Given the description of an element on the screen output the (x, y) to click on. 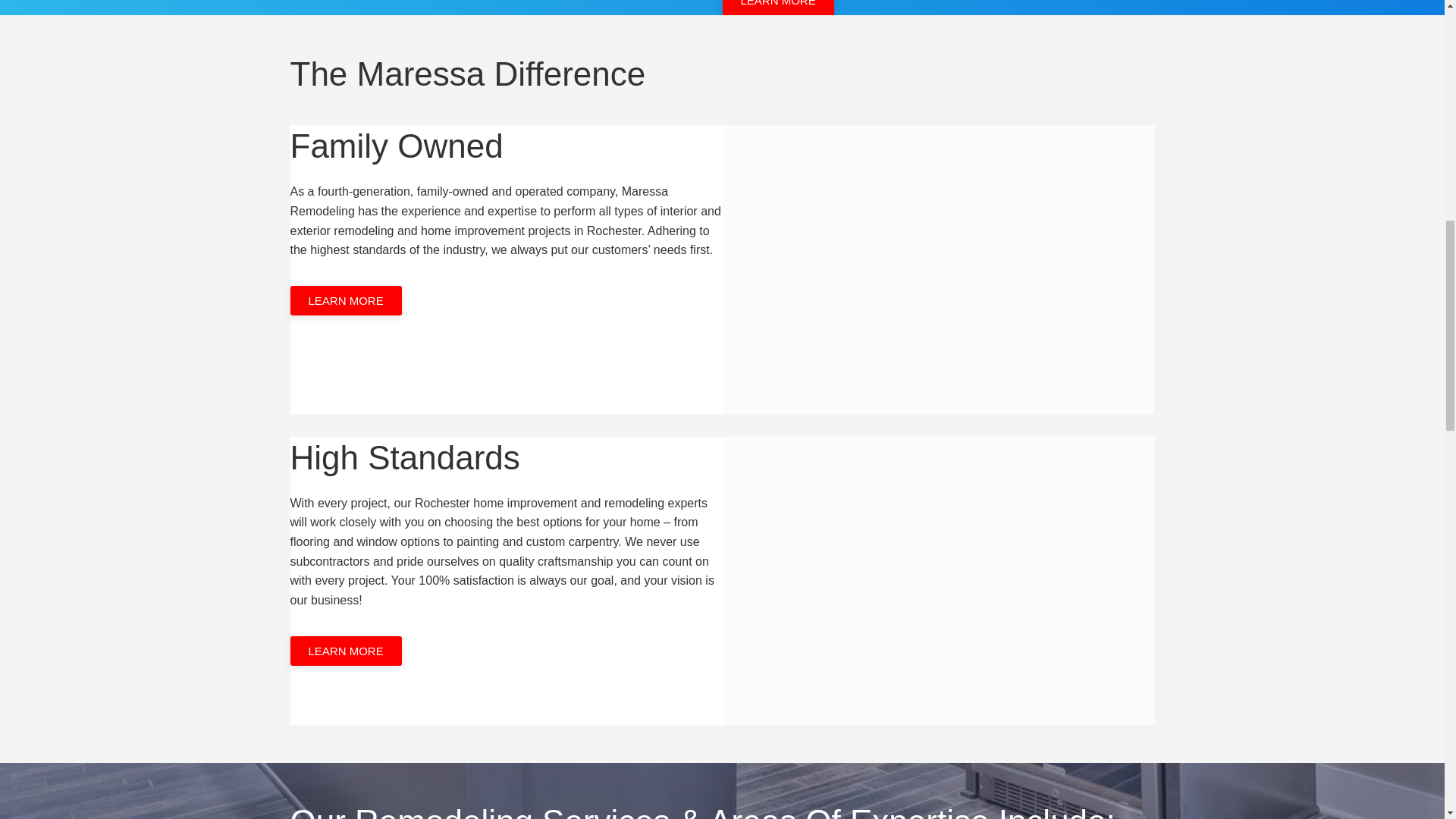
LEARN MORE (345, 300)
LEARN MORE (345, 650)
LEARN MORE (777, 7)
